Given the description of an element on the screen output the (x, y) to click on. 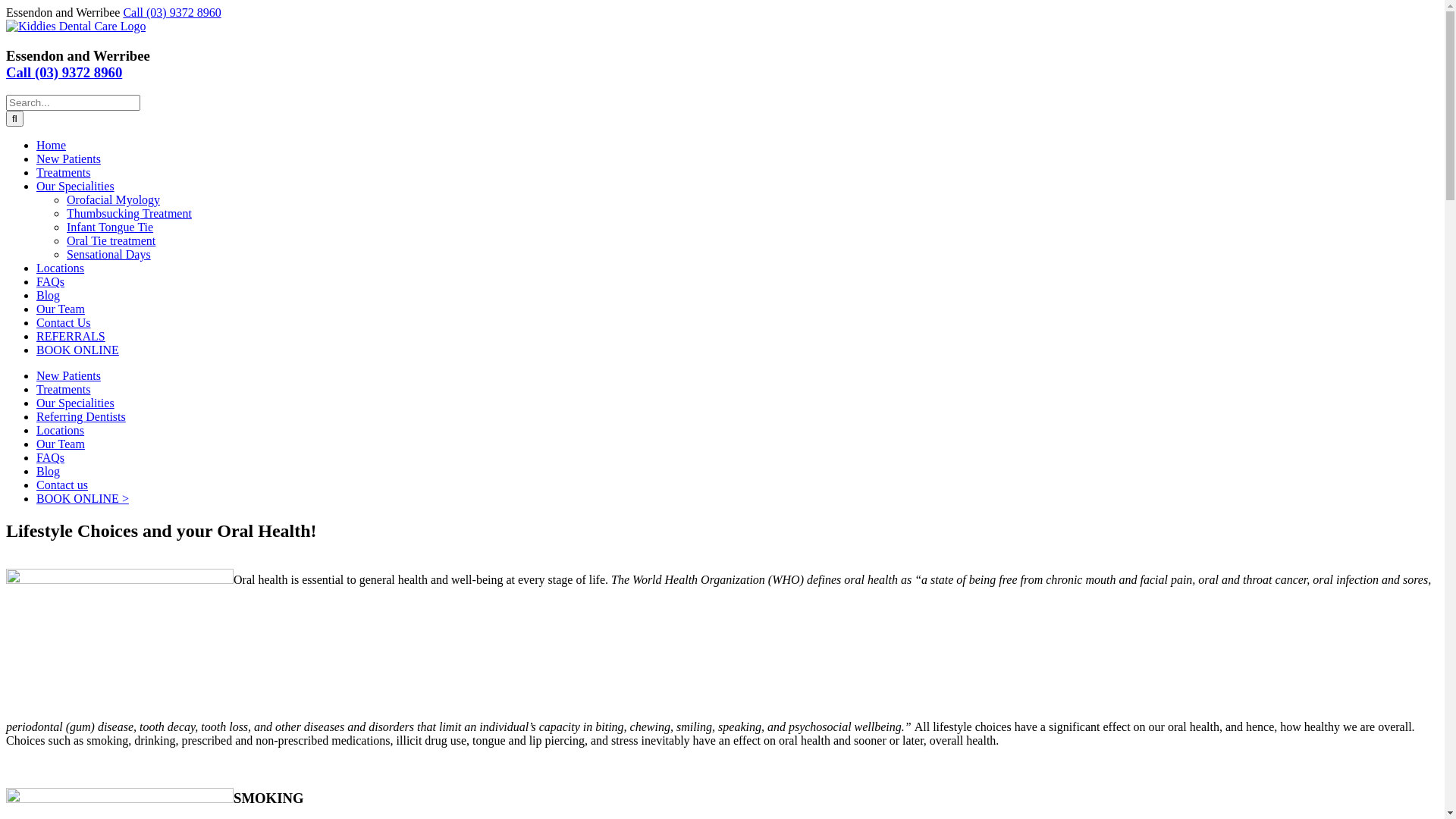
Our Team Element type: text (60, 443)
Skip to content Element type: text (5, 5)
Contact Us Element type: text (63, 322)
REFERRALS Element type: text (70, 335)
Referring Dentists Element type: text (80, 416)
Sensational Days Element type: text (108, 253)
Our Specialities Element type: text (75, 402)
BOOK ONLINE > Element type: text (82, 498)
Call (03) 9372 8960 Element type: text (64, 72)
Contact us Element type: text (61, 484)
Blog Element type: text (47, 294)
New Patients Element type: text (68, 375)
Treatments Element type: text (63, 388)
Locations Element type: text (60, 267)
Home Element type: text (50, 144)
FAQs Element type: text (50, 457)
Call (03) 9372 8960 Element type: text (171, 12)
BOOK ONLINE Element type: text (77, 349)
Infant Tongue Tie Element type: text (109, 226)
Our Team Element type: text (60, 308)
Orofacial Myology Element type: text (113, 199)
Thumbsucking Treatment Element type: text (128, 213)
Treatments Element type: text (63, 172)
Our Specialities Element type: text (75, 185)
FAQs Element type: text (50, 281)
Locations Element type: text (60, 429)
New Patients Element type: text (68, 158)
Oral Tie treatment Element type: text (110, 240)
Blog Element type: text (47, 470)
